Given the description of an element on the screen output the (x, y) to click on. 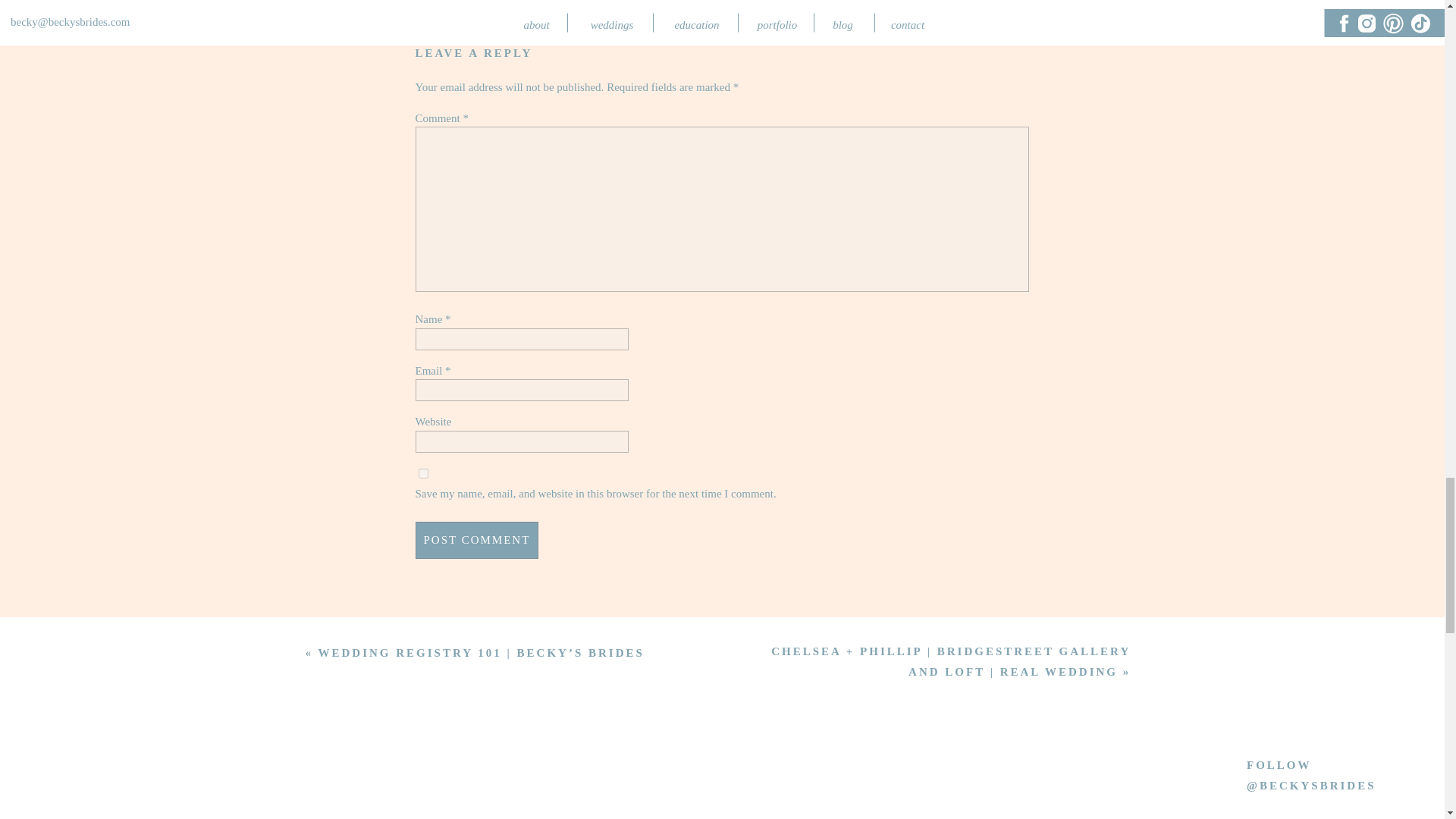
Post Comment (476, 539)
yes (423, 473)
Post Comment (476, 539)
BE THE FIRST TO COMMENT (723, 9)
